Given the description of an element on the screen output the (x, y) to click on. 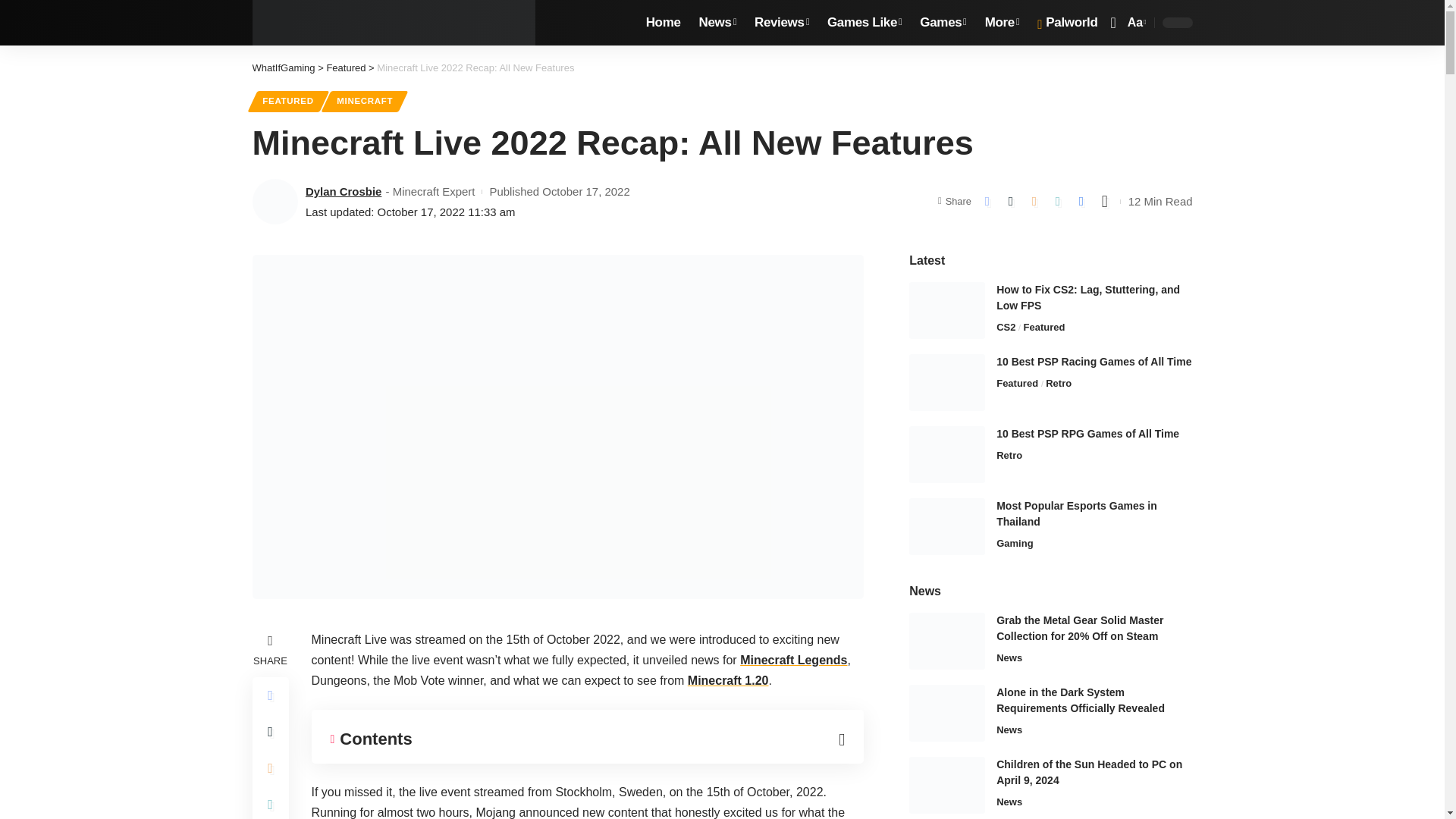
WhatIfGaming (393, 22)
News (717, 22)
Home (663, 22)
Go to WhatIfGaming. (282, 67)
Games Like (864, 22)
Go to the Featured Category archives. (345, 67)
Games (943, 22)
Reviews (781, 22)
